Given the description of an element on the screen output the (x, y) to click on. 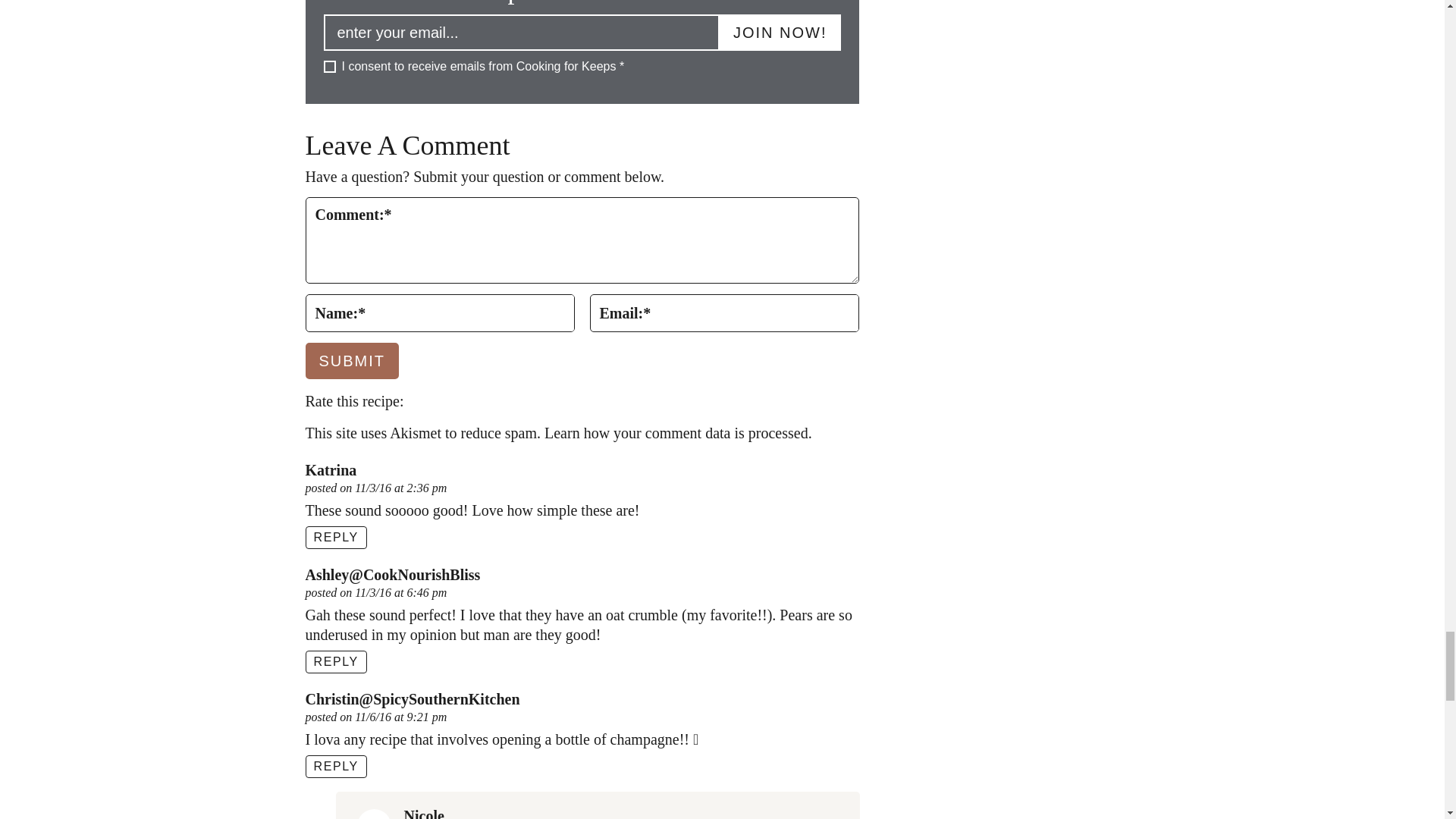
 I consent to receive emails from Cooking for Keeps (328, 66)
Submit (351, 361)
